Given the description of an element on the screen output the (x, y) to click on. 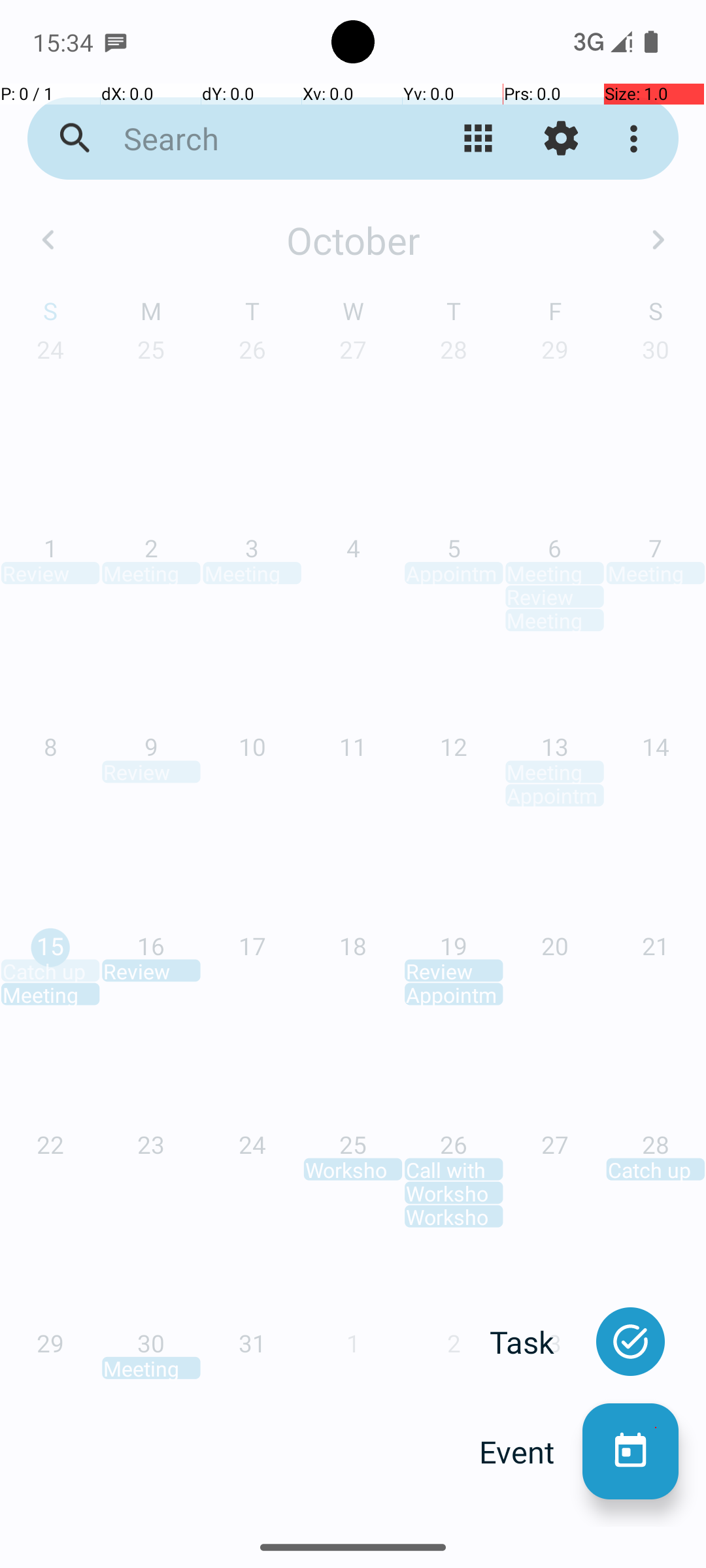
Task Element type: android.widget.TextView (535, 1341)
Event Element type: android.widget.TextView (530, 1451)
